Given the description of an element on the screen output the (x, y) to click on. 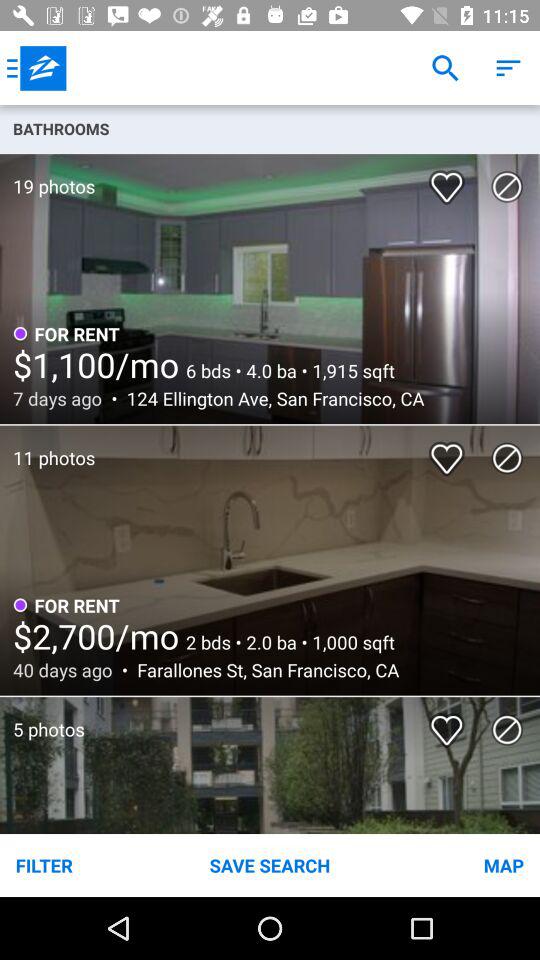
choose save search icon (270, 864)
